Given the description of an element on the screen output the (x, y) to click on. 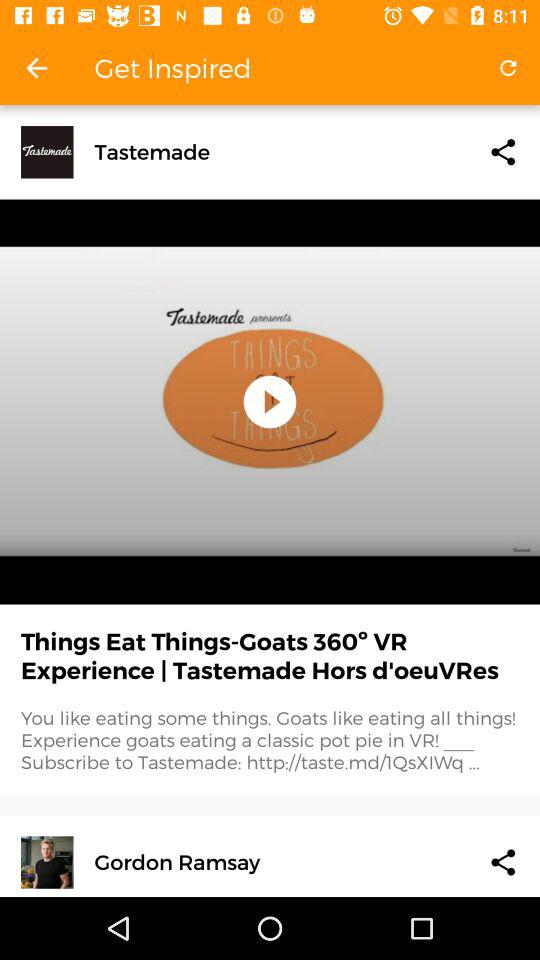
share (503, 152)
